Given the description of an element on the screen output the (x, y) to click on. 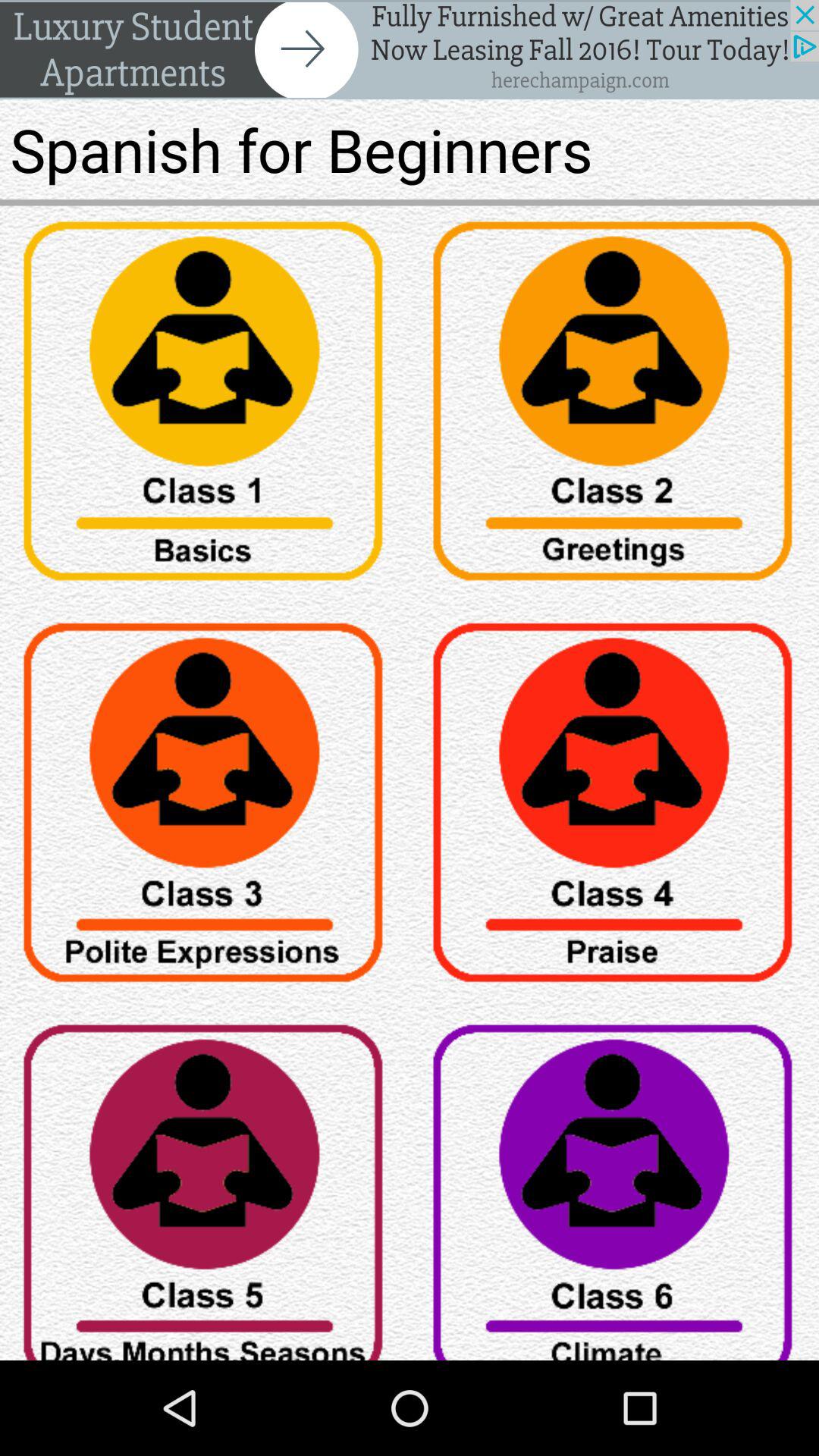
go to advertisement website (409, 49)
